Given the description of an element on the screen output the (x, y) to click on. 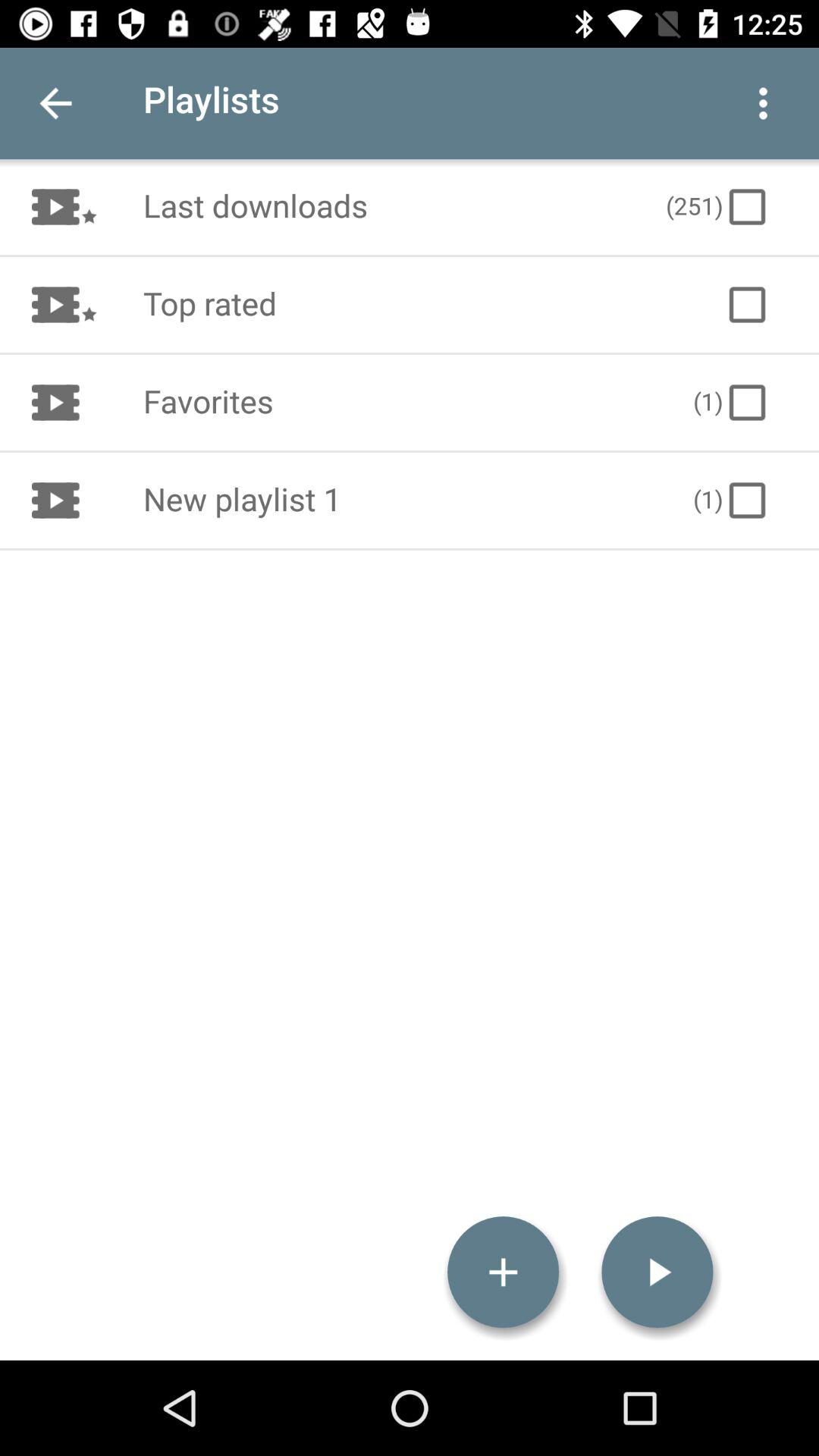
turn off icon at the bottom right corner (657, 1272)
